Given the description of an element on the screen output the (x, y) to click on. 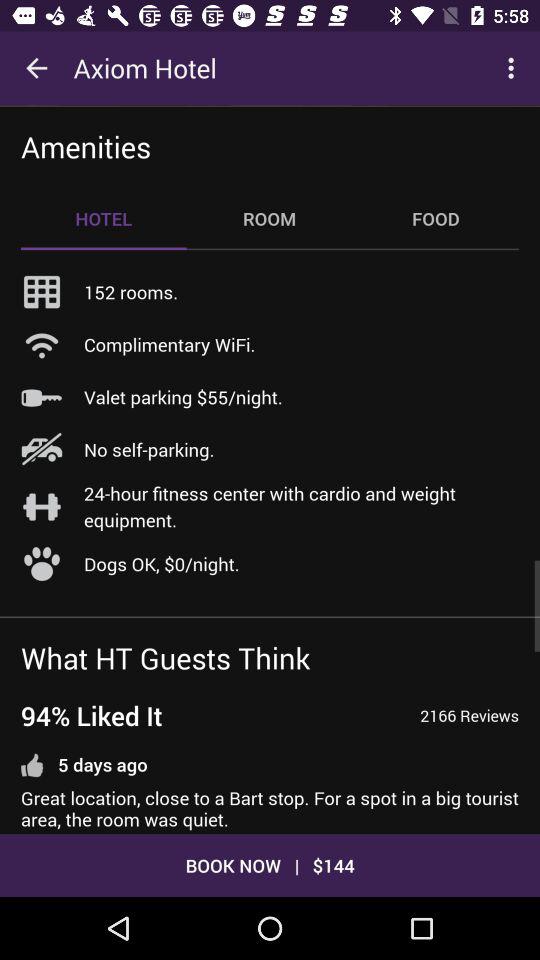
select icon to the left of the axiom hotel icon (36, 68)
